Given the description of an element on the screen output the (x, y) to click on. 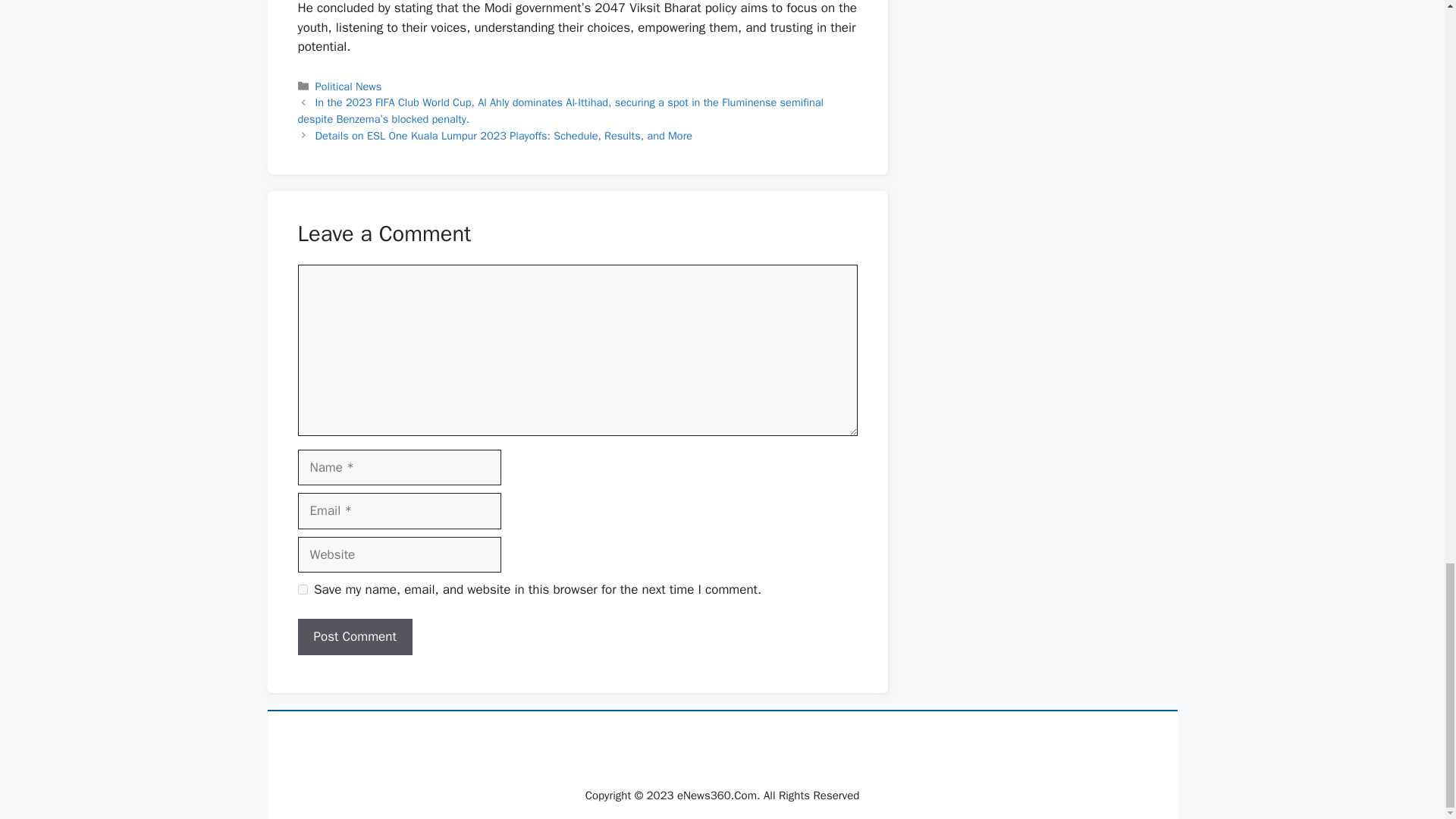
Post Comment (354, 637)
Post Comment (354, 637)
Political News (348, 86)
yes (302, 589)
